Given the description of an element on the screen output the (x, y) to click on. 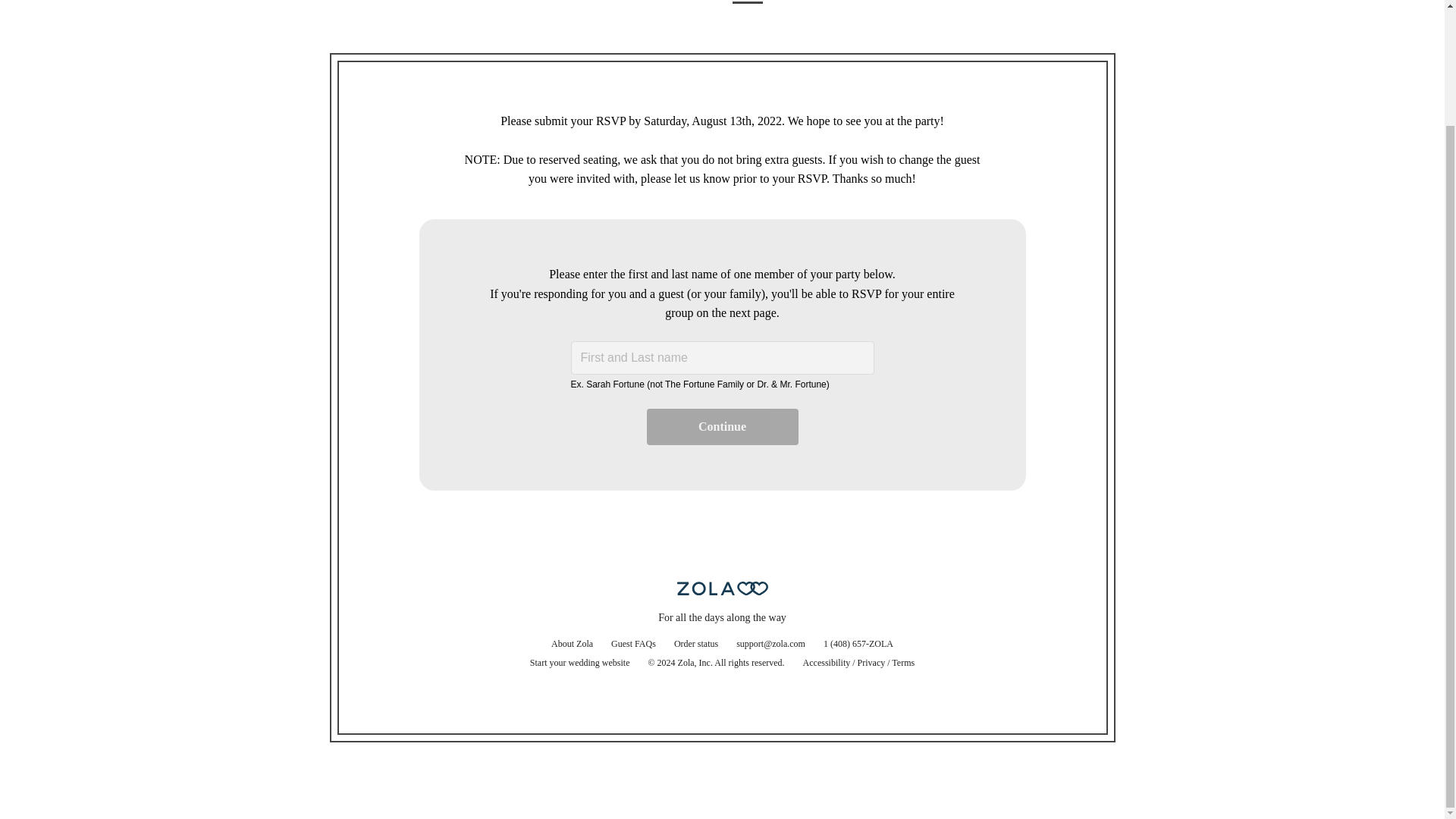
About Zola (571, 643)
Start your wedding website (579, 662)
Privacy (871, 662)
Order status (695, 643)
Accessibility (826, 662)
Continue (721, 426)
Terms (902, 662)
Guest FAQs (633, 643)
